Given the description of an element on the screen output the (x, y) to click on. 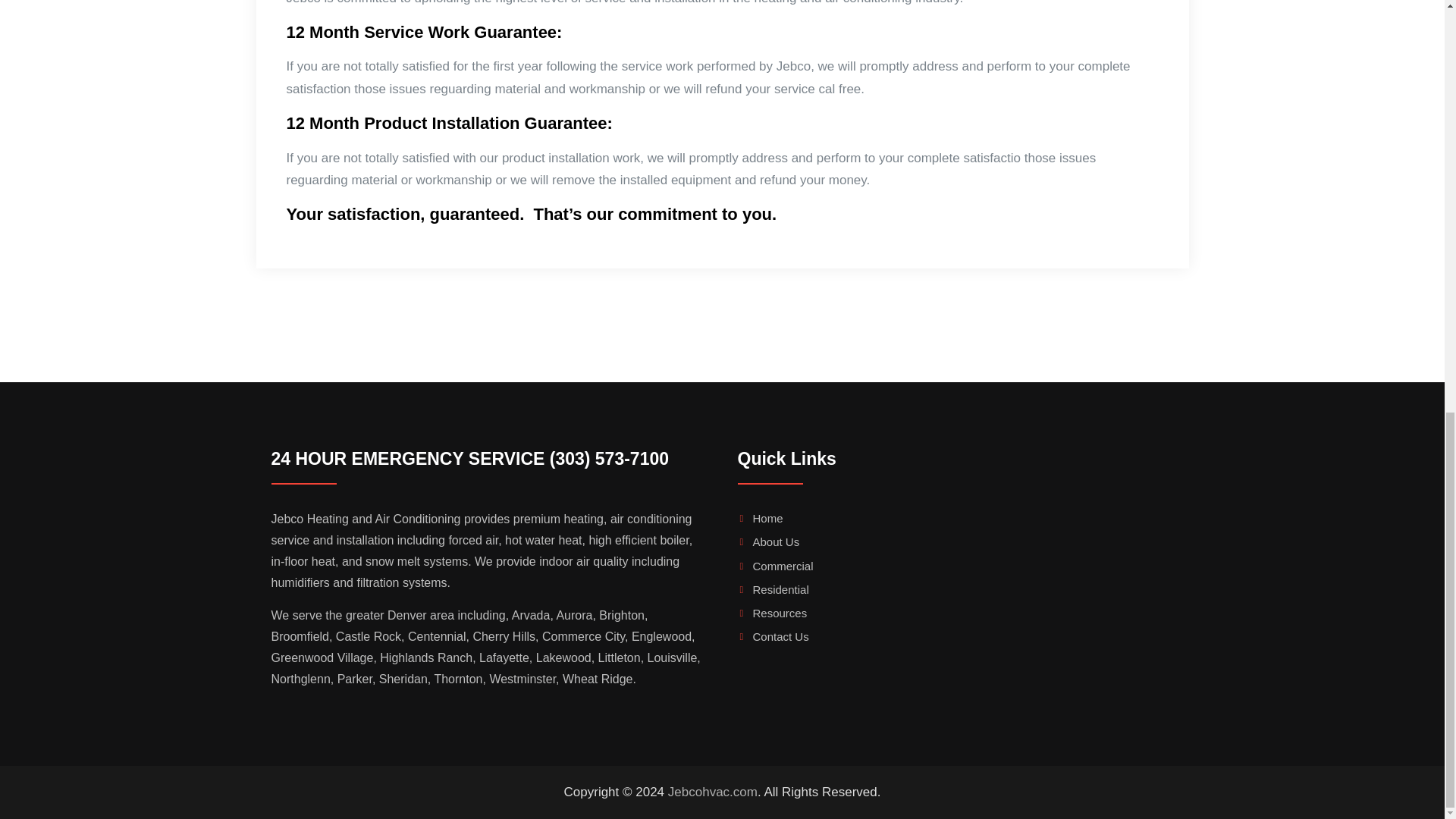
Jebcohvac.com (712, 791)
Residential (780, 589)
Resources (779, 612)
Home (767, 517)
About Us (775, 541)
Contact Us (780, 635)
Commercial (782, 565)
